Given the description of an element on the screen output the (x, y) to click on. 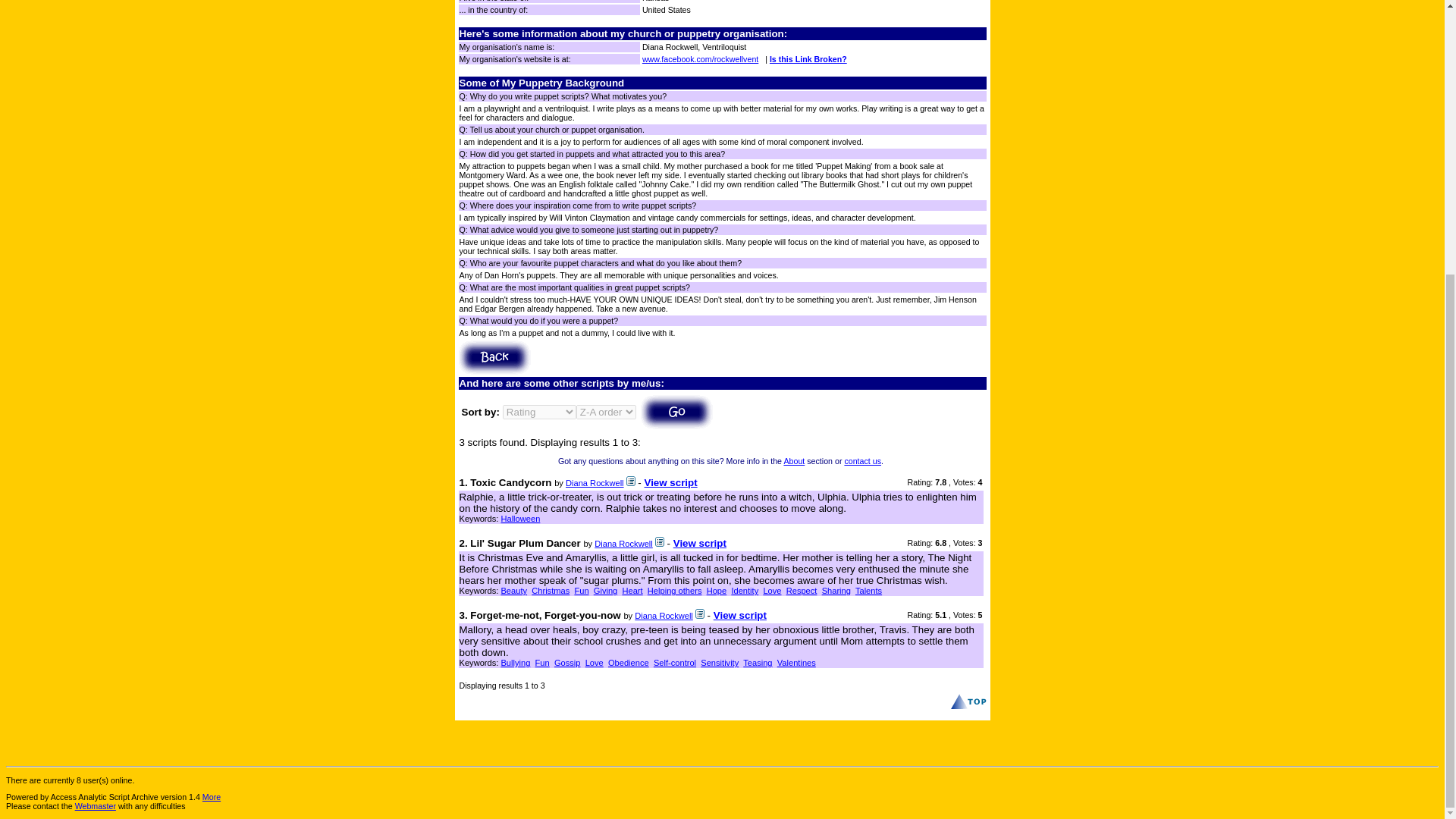
Heart (631, 590)
About (794, 461)
Votes (963, 481)
Is this Link Broken? (808, 58)
contact us (862, 461)
Diana Rockwell (595, 482)
Identity (744, 590)
Votes (963, 542)
Halloween (520, 518)
View script (699, 542)
Hope (716, 590)
Sharing (836, 590)
Christmas (550, 590)
Giving (605, 590)
Fun (580, 590)
